Given the description of an element on the screen output the (x, y) to click on. 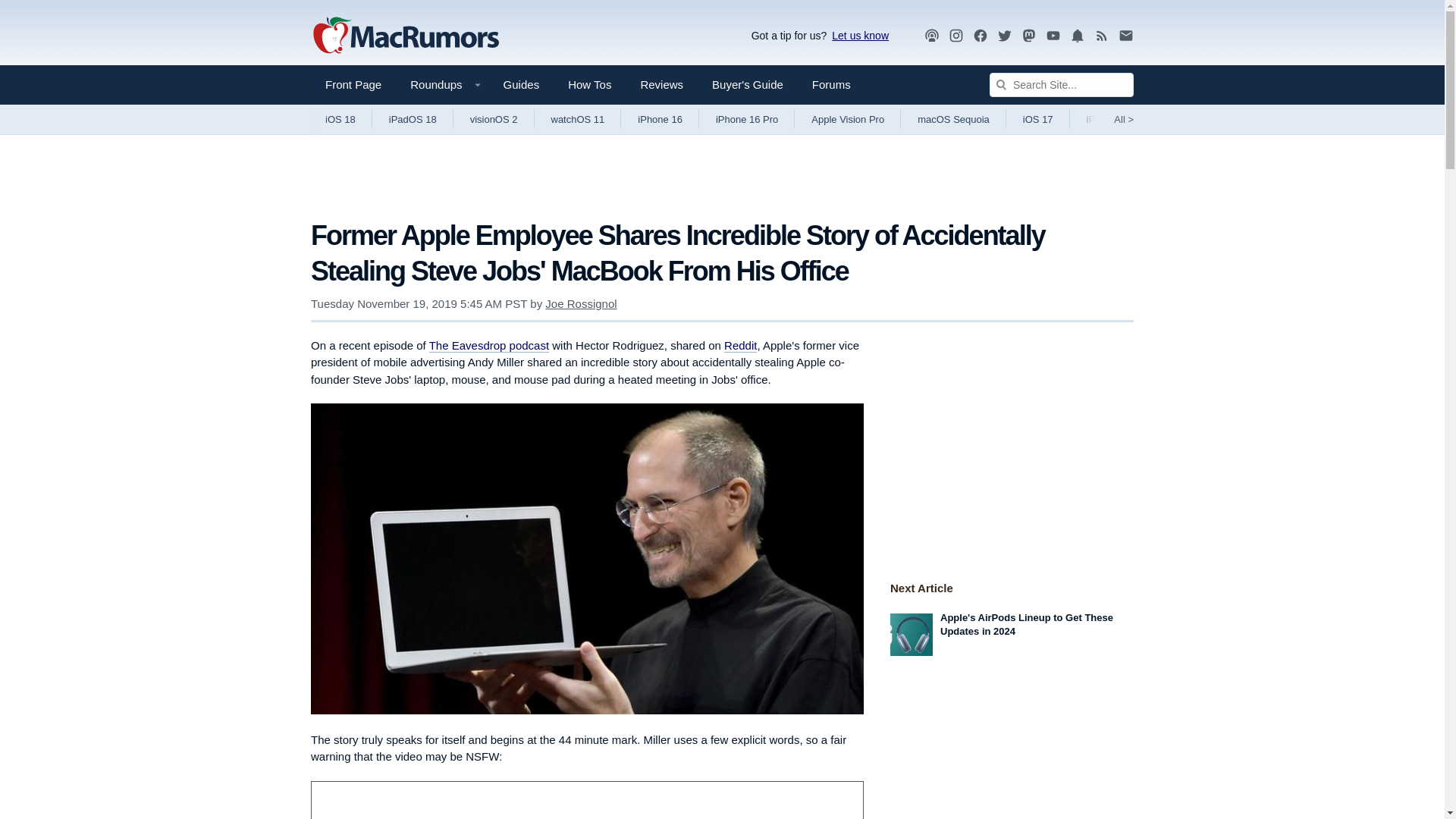
Newsletter (1126, 35)
Instagram (956, 35)
Roundups (441, 84)
MacRumors on Mastodon (1029, 35)
Buyer's Guide (747, 84)
YouTube (1053, 35)
MacRumors YouTube Channel (1053, 35)
MacRumors RSS Feed (1101, 35)
Twitter (1004, 35)
Roundups (441, 84)
